Given the description of an element on the screen output the (x, y) to click on. 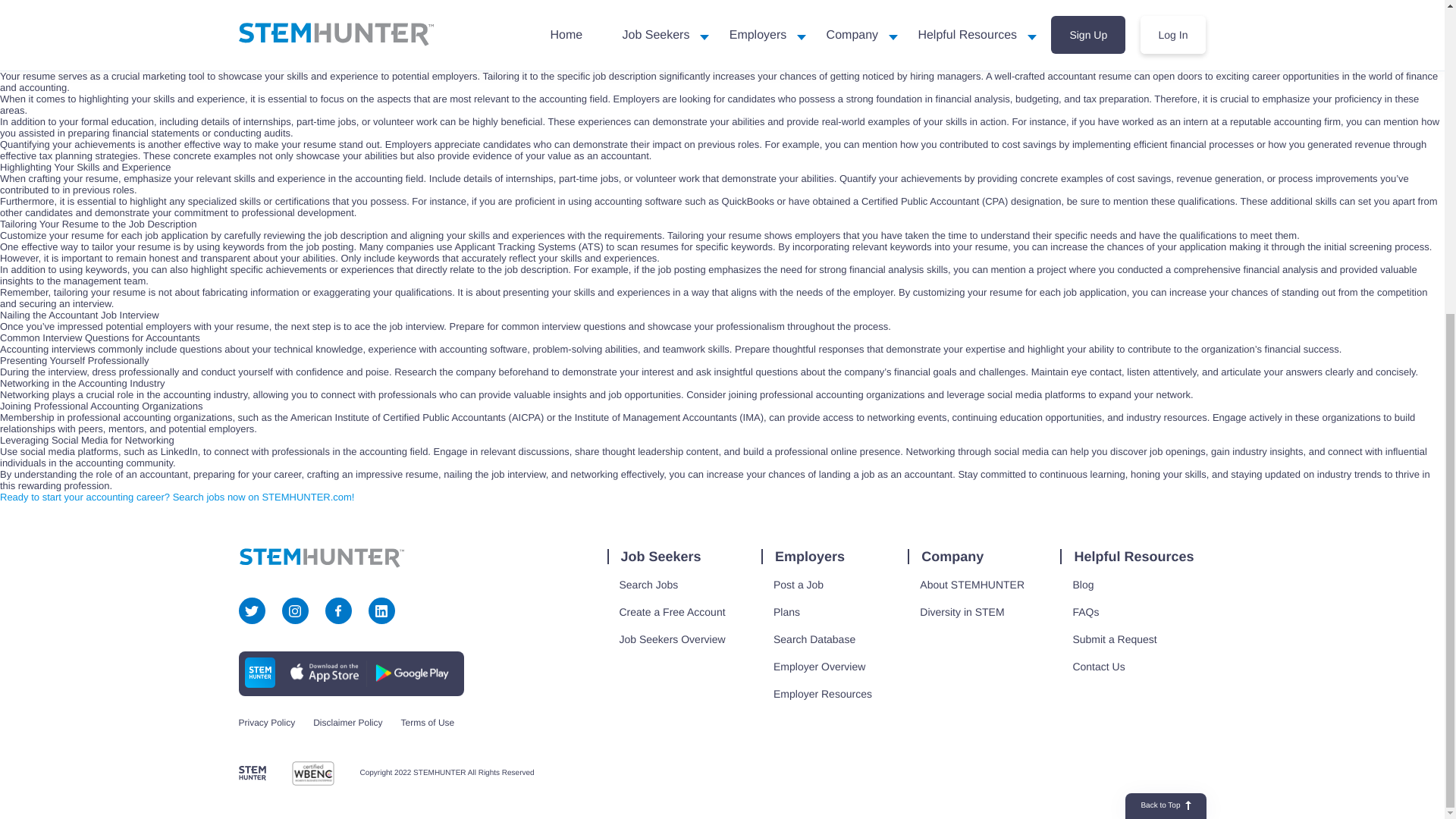
Disclaimer Policy (347, 722)
Post a Job (798, 584)
Download the STEMHUNTER App on the Appstore (323, 672)
Privacy Policy (266, 722)
Job Seekers (660, 556)
Plans (786, 611)
Create a Free Account (671, 611)
Follow STEMHUNTER on Twitter (251, 611)
Follow STEMHUNTER on Instagram (294, 611)
Employers (809, 556)
